Given the description of an element on the screen output the (x, y) to click on. 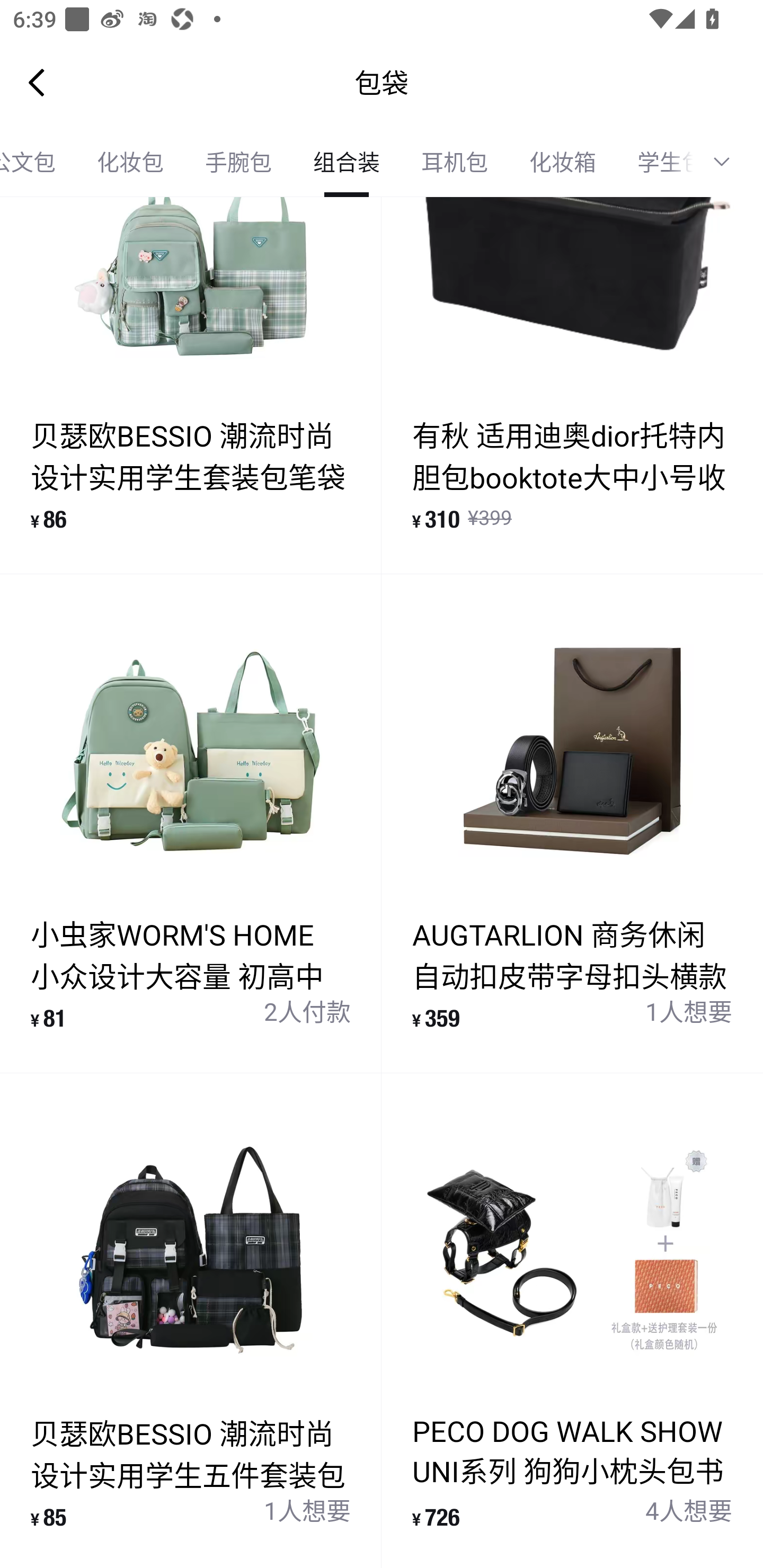
Navigate up (36, 82)
化妆包 (130, 162)
手腕包 (238, 162)
组合装 (346, 162)
耳机包 (454, 162)
化妆箱 (562, 162)
 (727, 162)
